Given the description of an element on the screen output the (x, y) to click on. 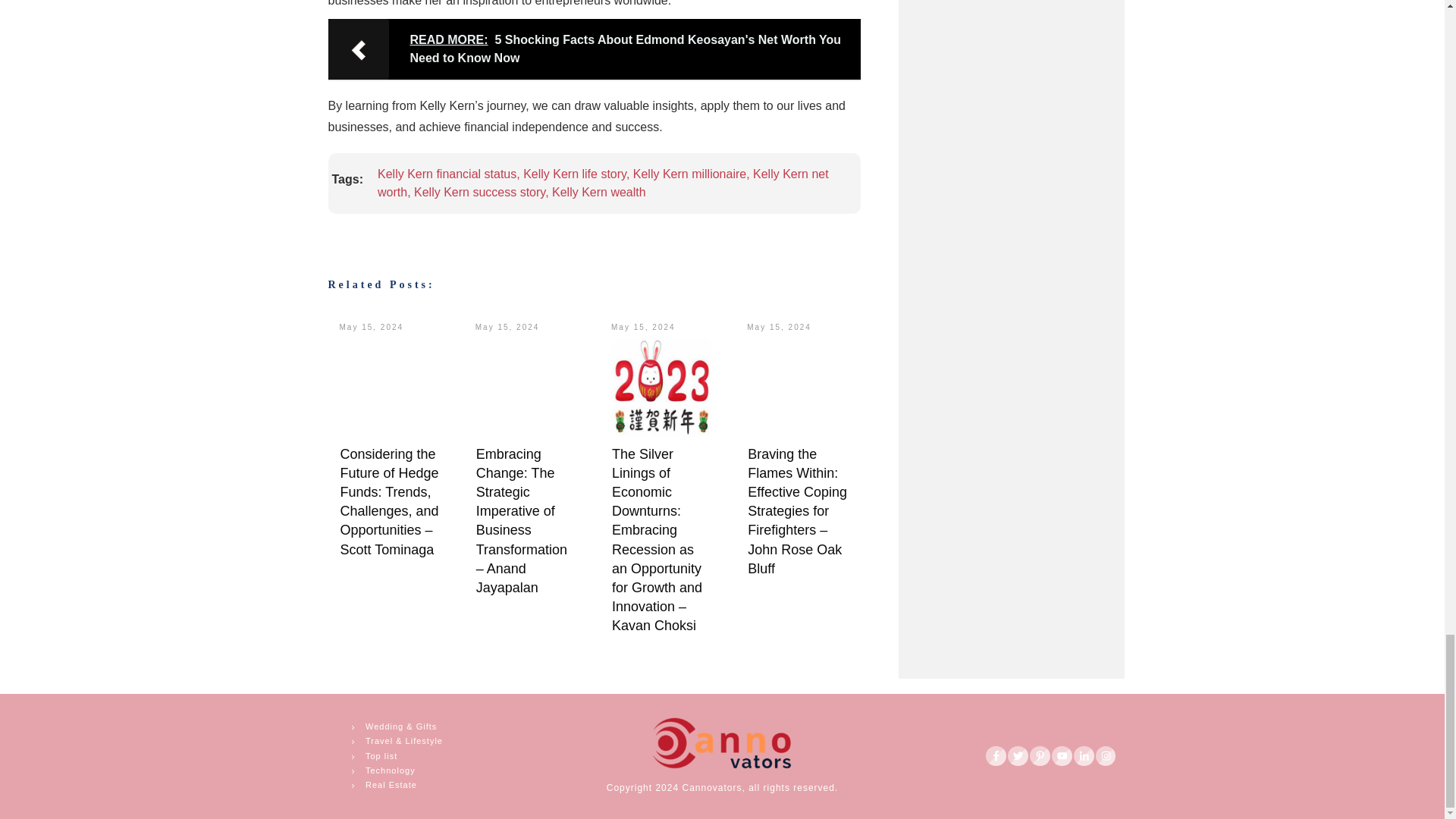
Kelly Kern life story (574, 173)
Kelly Kern financial status (446, 173)
Kelly Kern wealth (598, 192)
Kelly Kern millionaire (689, 173)
Kelly Kern millionaire (689, 173)
Kelly Kern net worth (602, 183)
Kelly Kern wealth (598, 192)
Kelly Kern success story (478, 192)
Kelly Kern life story (574, 173)
